Given the description of an element on the screen output the (x, y) to click on. 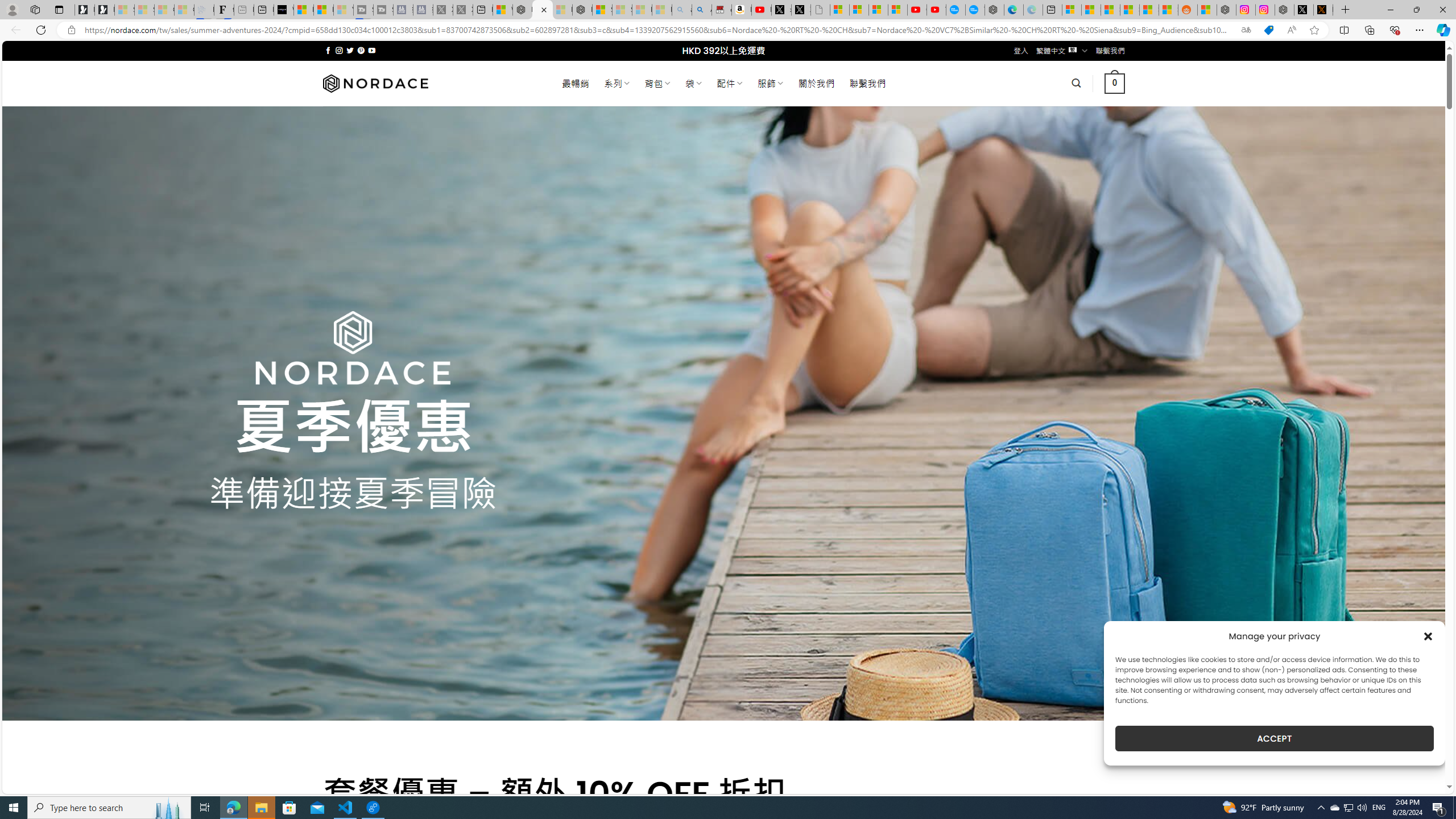
Gloom - YouTube (916, 9)
amazon - Search - Sleeping (681, 9)
Newsletter Sign Up (104, 9)
Microsoft account | Microsoft Account Privacy Settings (1071, 9)
Shanghai, China Weather trends | Microsoft Weather (1168, 9)
Untitled (820, 9)
  0   (1115, 83)
Wildlife - MSN (501, 9)
